Given the description of an element on the screen output the (x, y) to click on. 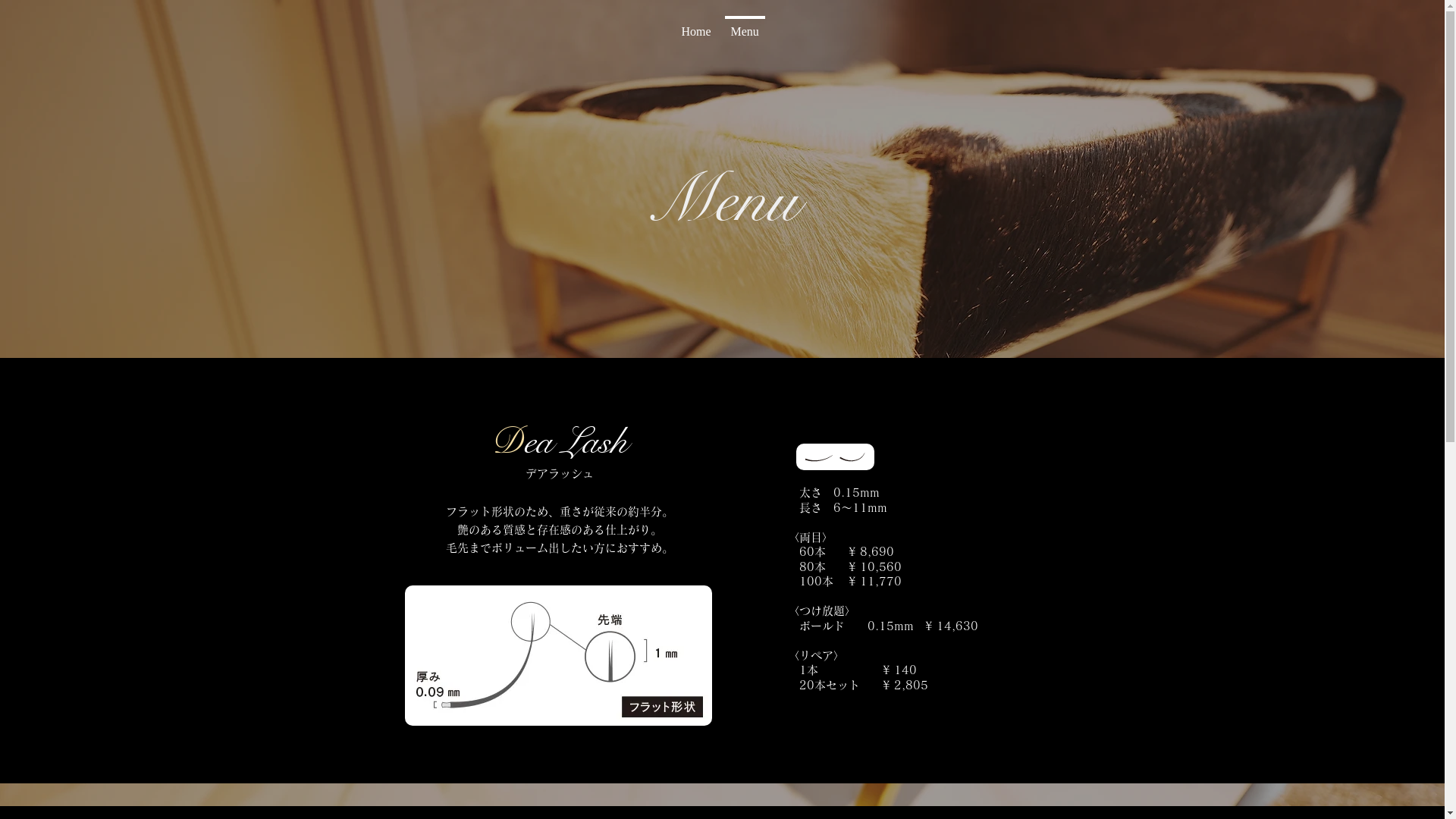
Menu Element type: text (744, 24)
Home Element type: text (696, 24)
